Given the description of an element on the screen output the (x, y) to click on. 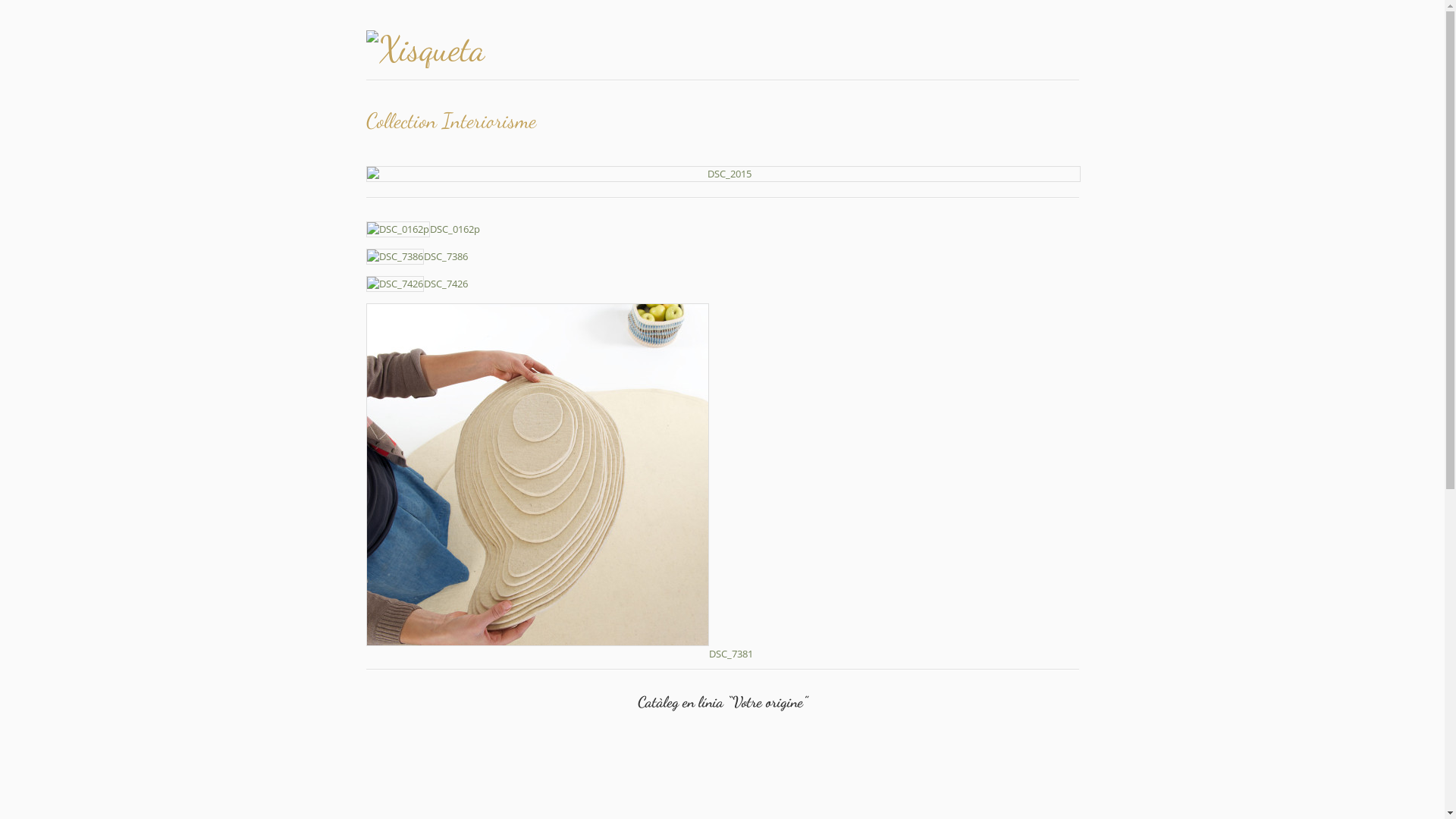
DSC_7386 Element type: text (416, 256)
Collection Interiorisme Element type: hover (721, 174)
DSC_7381 Element type: text (558, 653)
Xisqueta Element type: hover (471, 49)
DSC_0162p Element type: text (422, 228)
DSC_7426 Element type: text (416, 283)
